Given the description of an element on the screen output the (x, y) to click on. 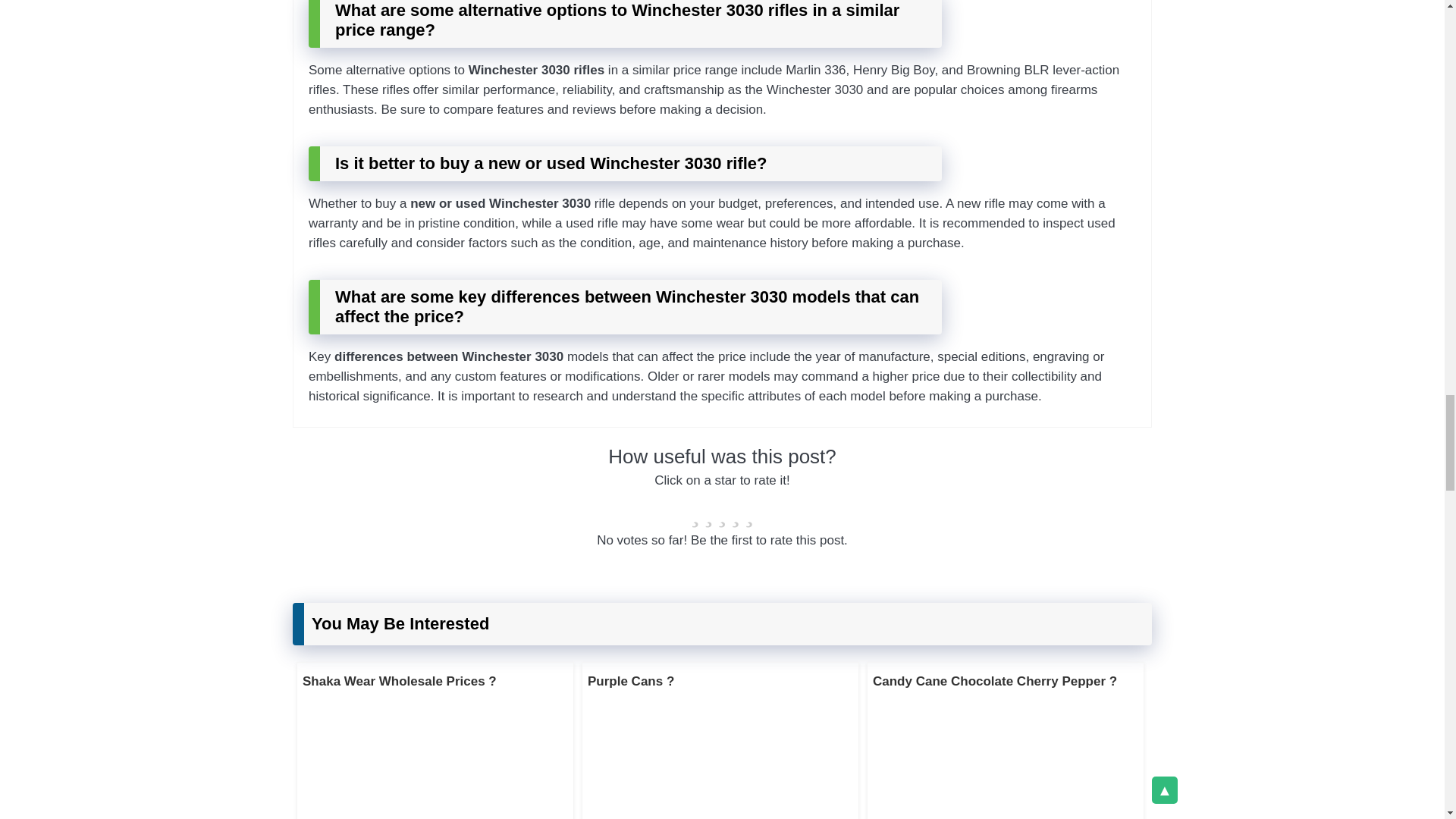
Shaka Wear Wholesale Prices ? (399, 681)
Shaka Wear Wholesale Prices ? (399, 681)
Purple Cans ? (631, 681)
Purple Cans ? (631, 681)
